Given the description of an element on the screen output the (x, y) to click on. 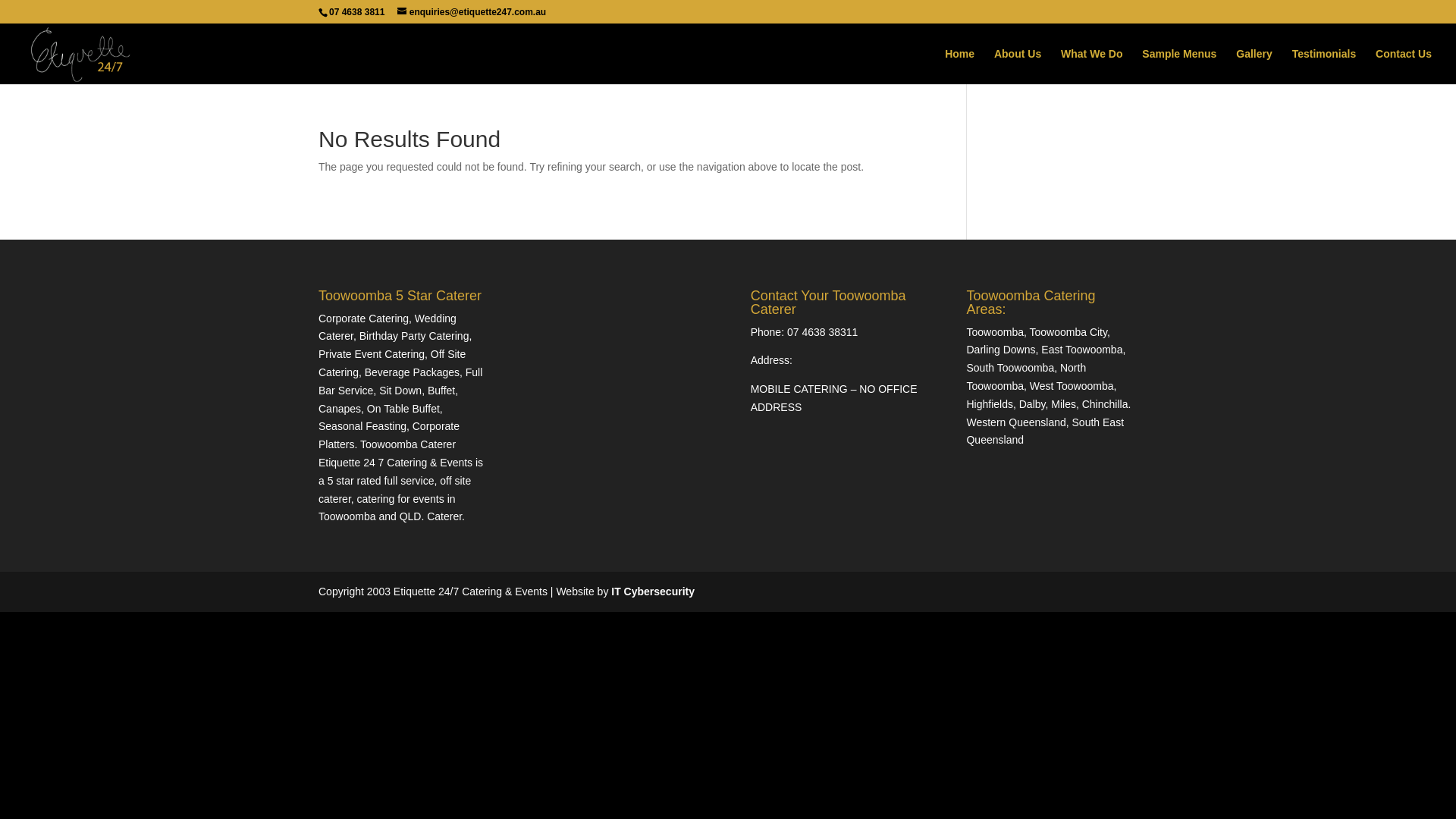
Contact Us Element type: text (1403, 66)
IT Cybersecurity Element type: text (652, 591)
enquiries@etiquette247.com.au Element type: text (471, 11)
Gallery Element type: text (1253, 66)
About Us Element type: text (1017, 66)
Testimonials Element type: text (1324, 66)
What We Do Element type: text (1091, 66)
Sample Menus Element type: text (1179, 66)
Home Element type: text (959, 66)
